Given the description of an element on the screen output the (x, y) to click on. 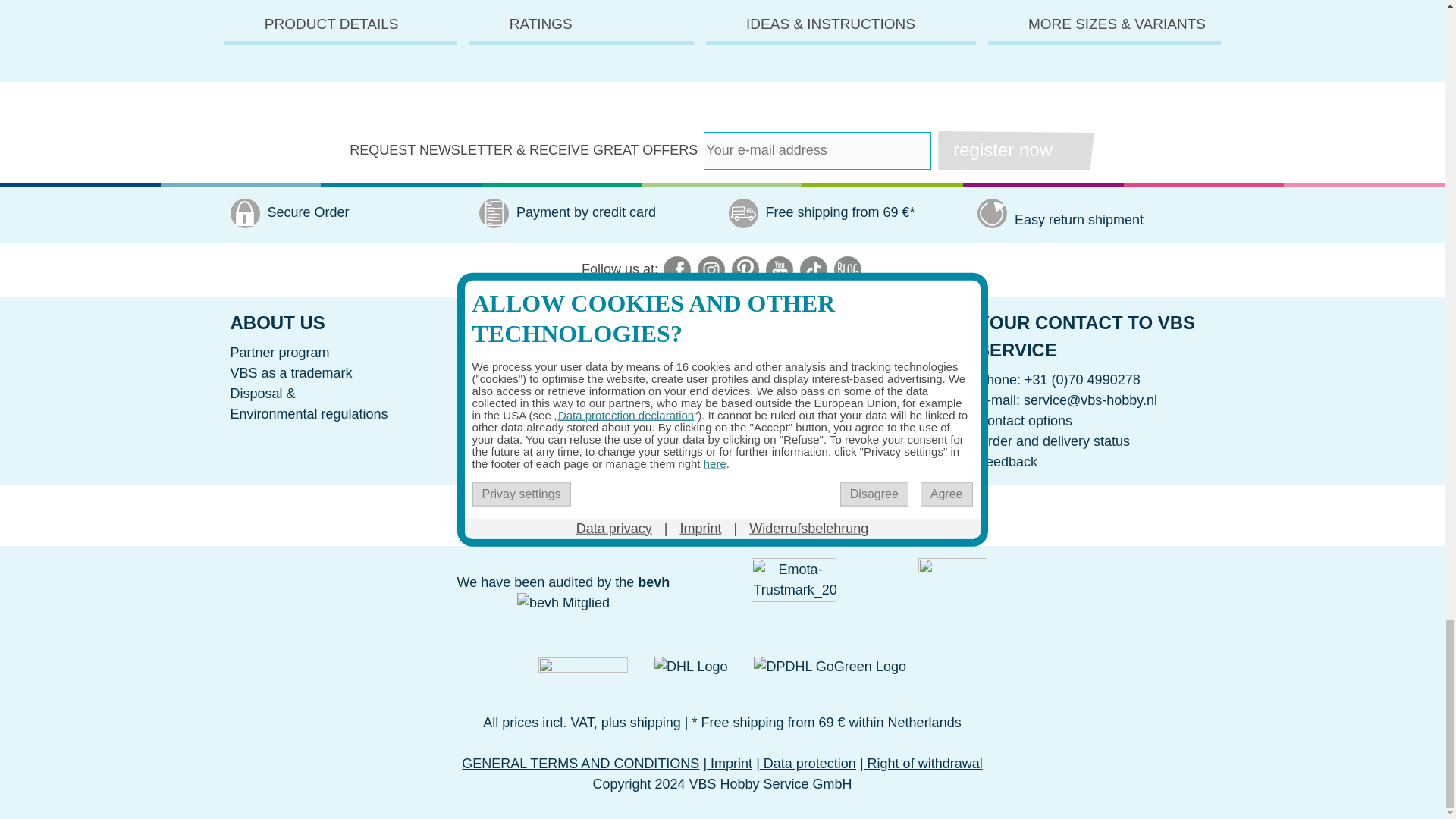
Available (520, 5)
Available (318, 5)
